Given the description of an element on the screen output the (x, y) to click on. 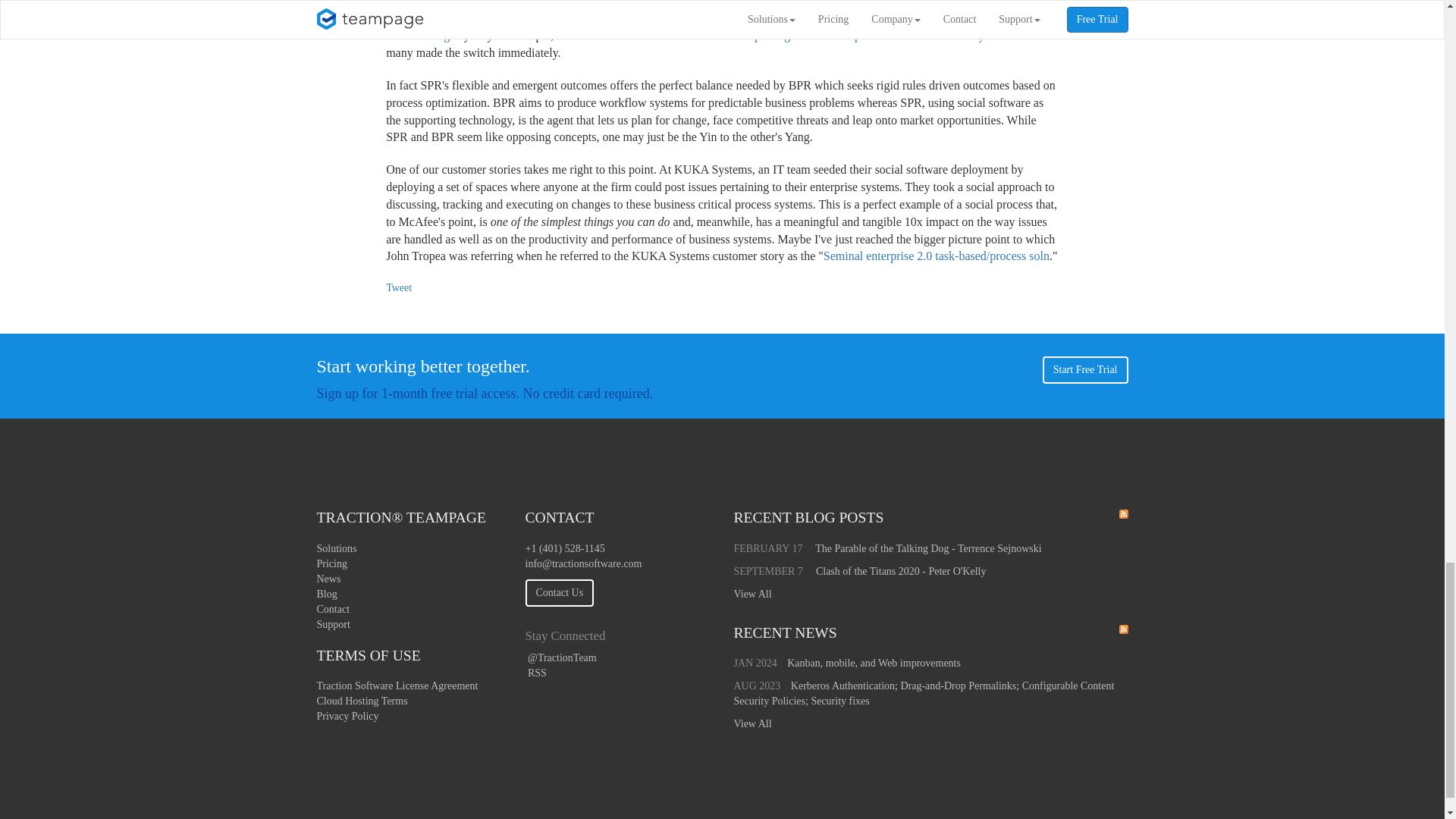
The official Twitter account of Traction Software, Inc. (559, 657)
Blog RSS Feed (1123, 513)
News RSS Feed (1123, 628)
